Given the description of an element on the screen output the (x, y) to click on. 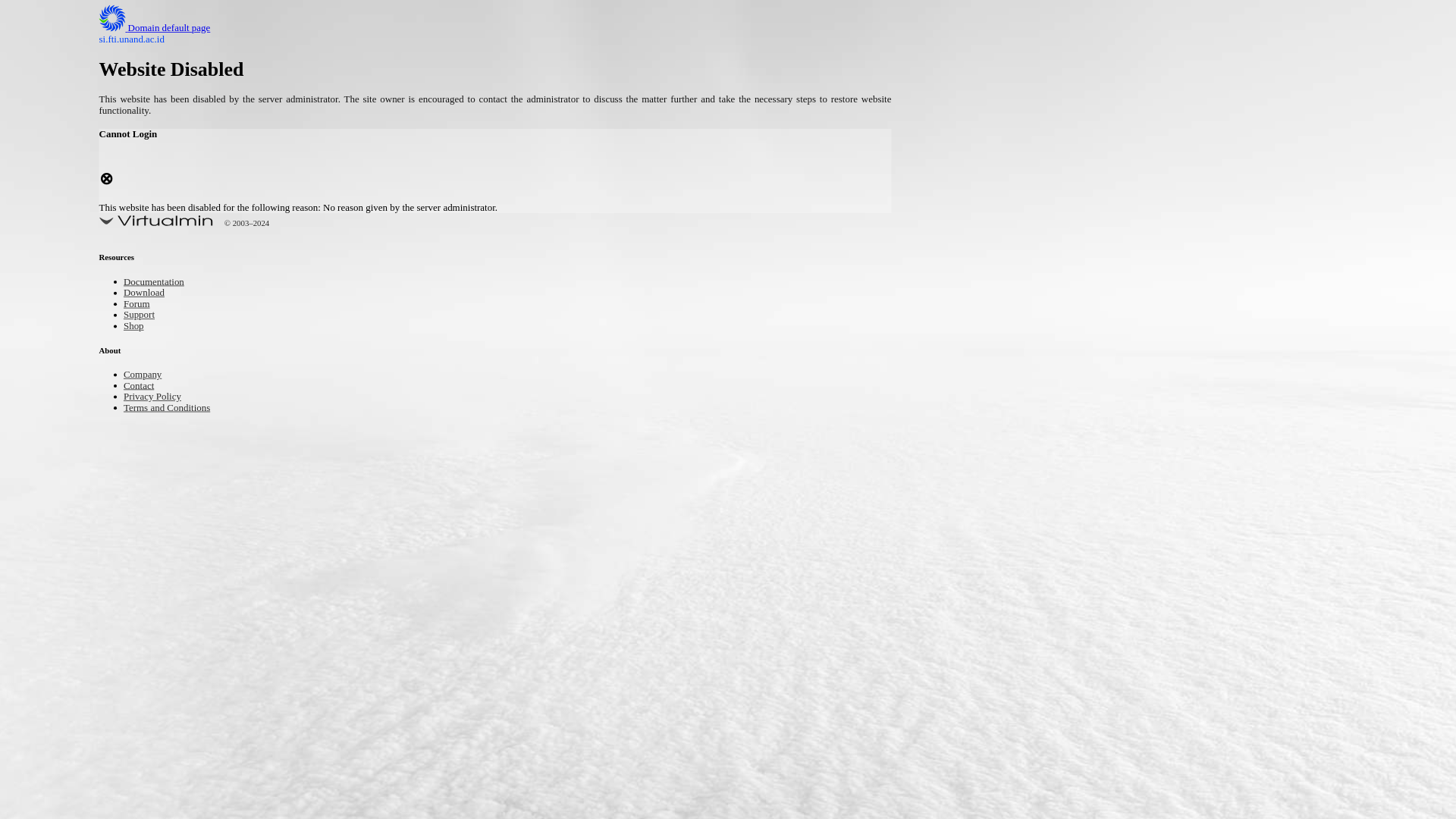
Domain default page (167, 29)
Documentation (160, 282)
Forum (139, 305)
Support (142, 315)
Company (146, 374)
Privacy Policy (159, 397)
Download (148, 293)
Shop (135, 327)
Contact (142, 386)
Terms and Conditions (176, 408)
